Given the description of an element on the screen output the (x, y) to click on. 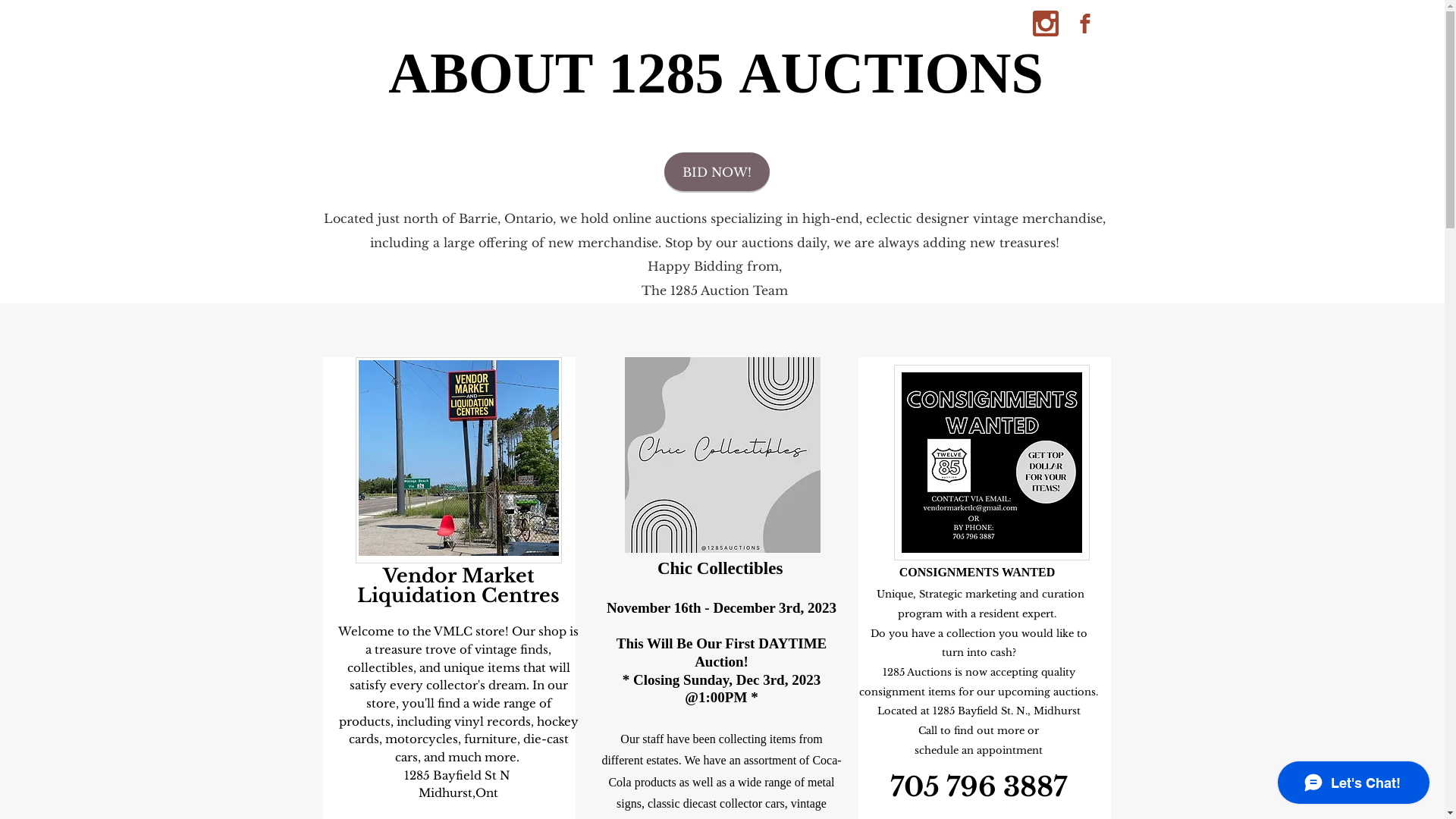
BID NOW! Element type: text (716, 171)
